Given the description of an element on the screen output the (x, y) to click on. 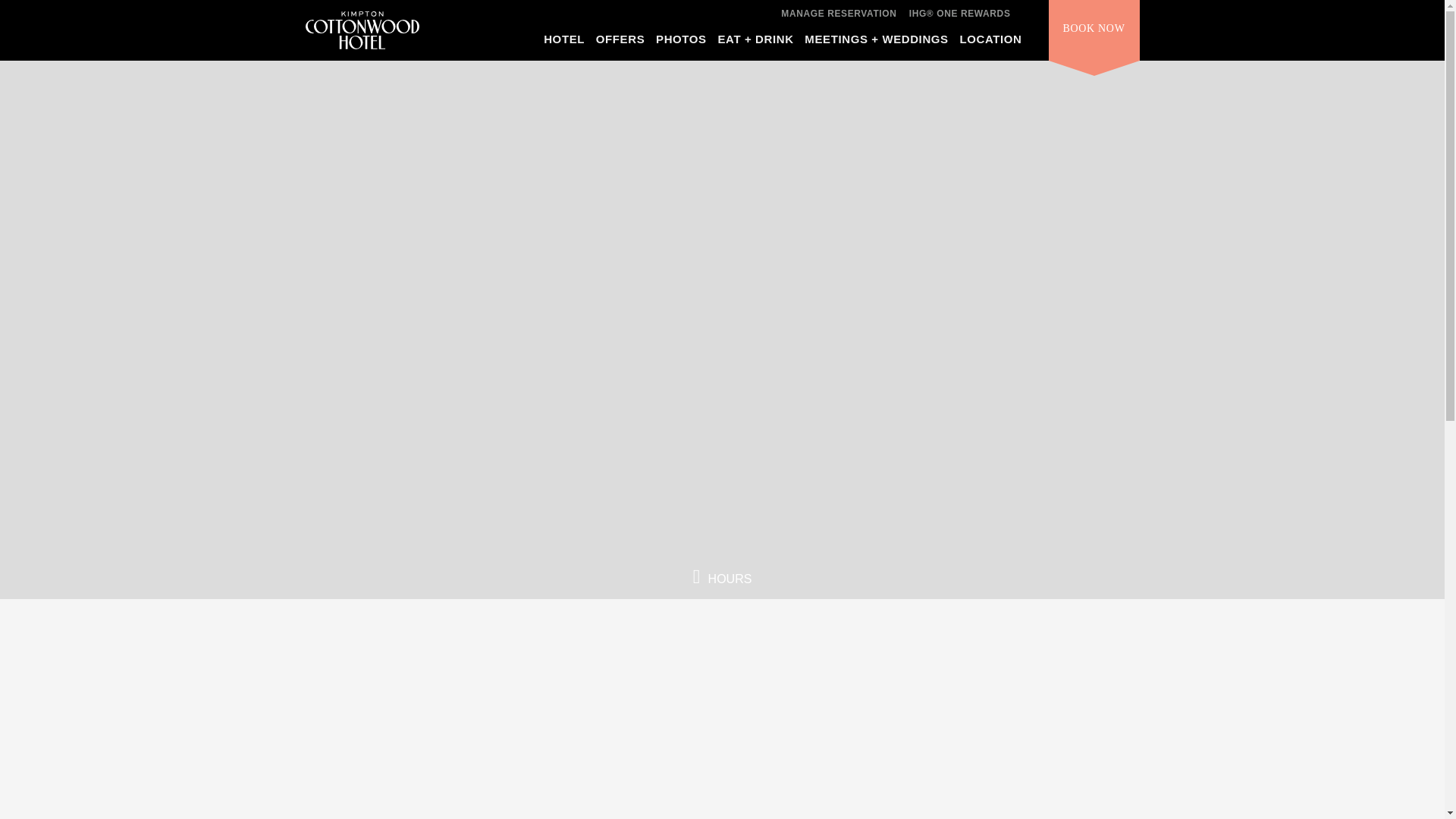
OFFERS (620, 43)
HOTEL (564, 43)
PHOTOS (681, 43)
Home (361, 26)
LOCATION (990, 43)
